Given the description of an element on the screen output the (x, y) to click on. 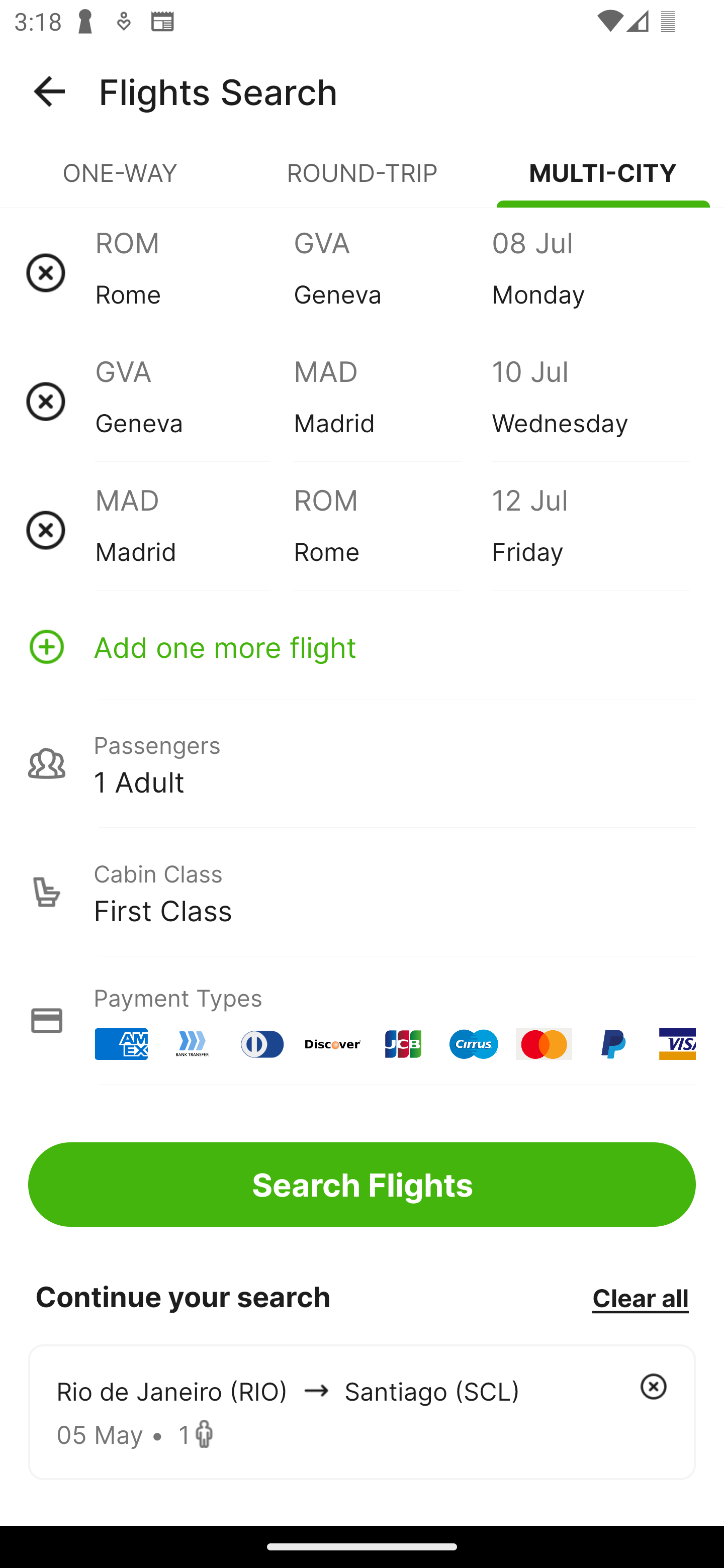
ONE-WAY (120, 180)
ROUND-TRIP (361, 180)
MULTI-CITY (603, 180)
ROM Rome (193, 272)
GVA Geneva (392, 272)
08 Jul Monday (590, 272)
GVA Geneva (193, 401)
MAD Madrid (392, 401)
10 Jul Wednesday (590, 401)
MAD Madrid (193, 529)
ROM Rome (392, 529)
12 Jul Friday (590, 529)
Add one more flight (362, 646)
Passengers 1 Adult (362, 762)
Cabin Class First Class (362, 891)
Payment Types (362, 1020)
Search Flights (361, 1184)
Clear all (640, 1297)
